Given the description of an element on the screen output the (x, y) to click on. 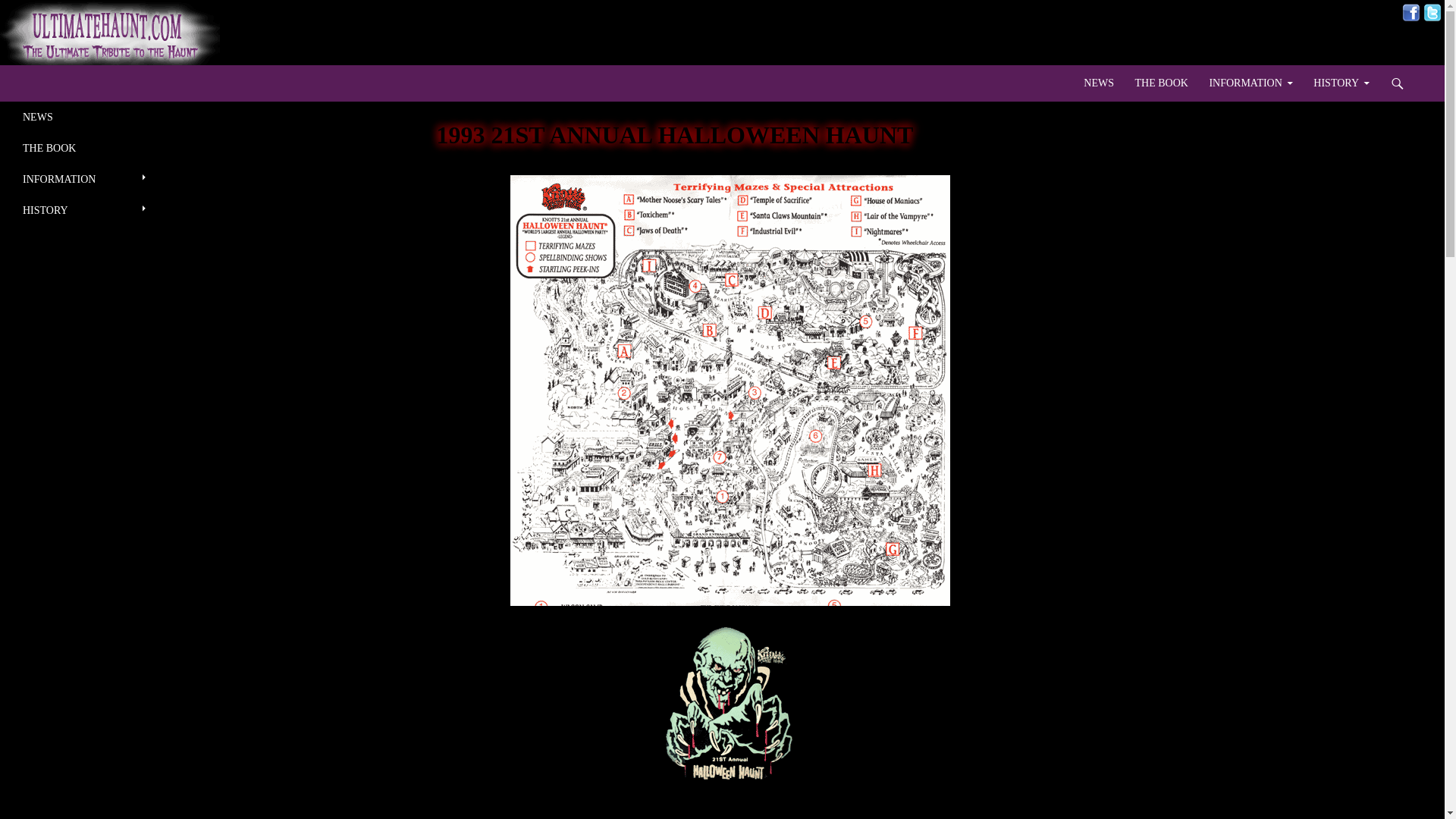
THE BOOK (84, 147)
NEWS (84, 116)
HALLOWEEN HAUNT 1993 21TH ANNUAL logo (730, 705)
INFORMATION (84, 178)
INFORMATION (1250, 83)
UltimateHaunt.com (80, 83)
HISTORY (1341, 83)
